Given the description of an element on the screen output the (x, y) to click on. 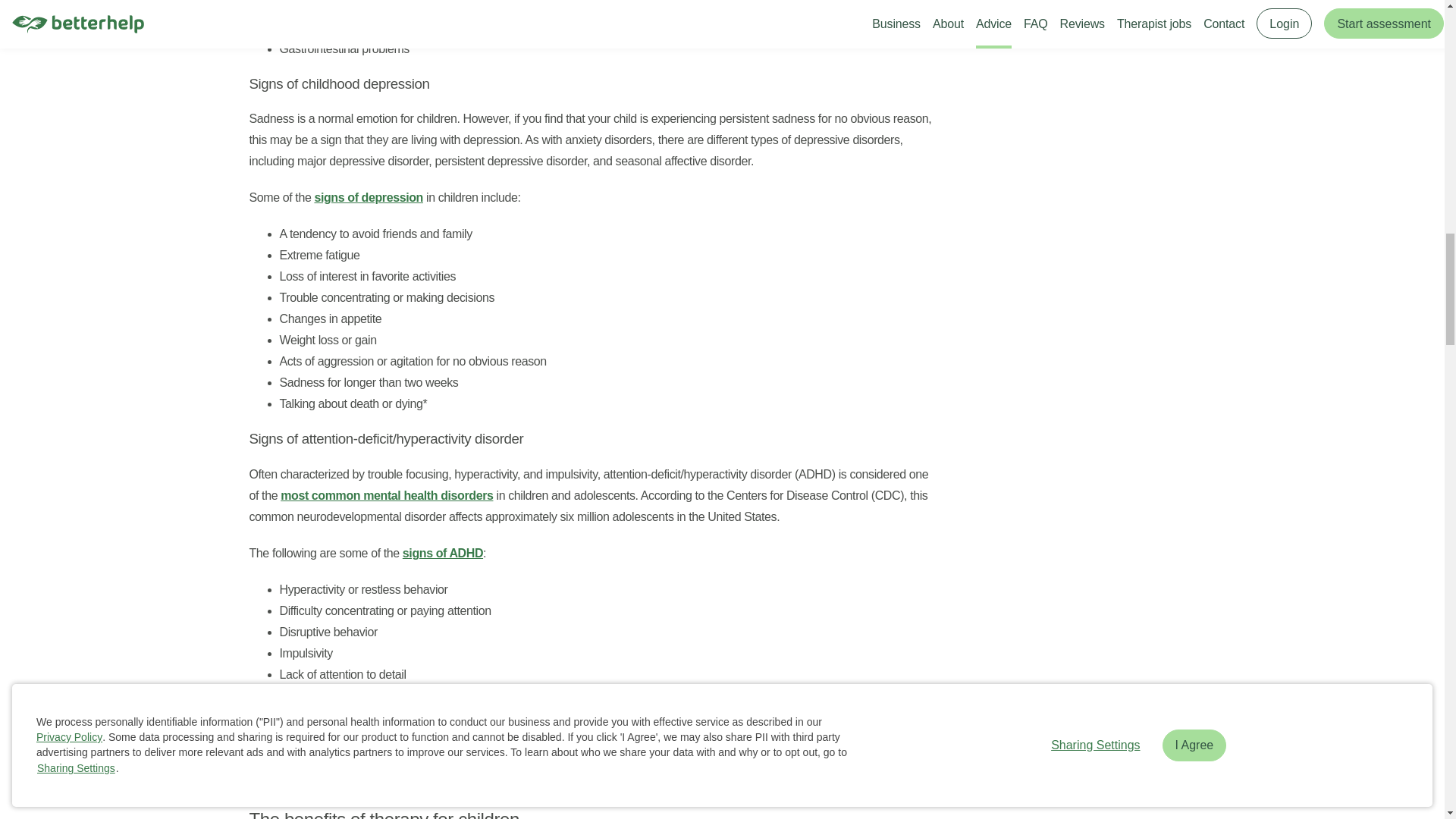
signs of ADHD (443, 553)
most common mental health disorders (387, 495)
signs of depression (368, 196)
